Given the description of an element on the screen output the (x, y) to click on. 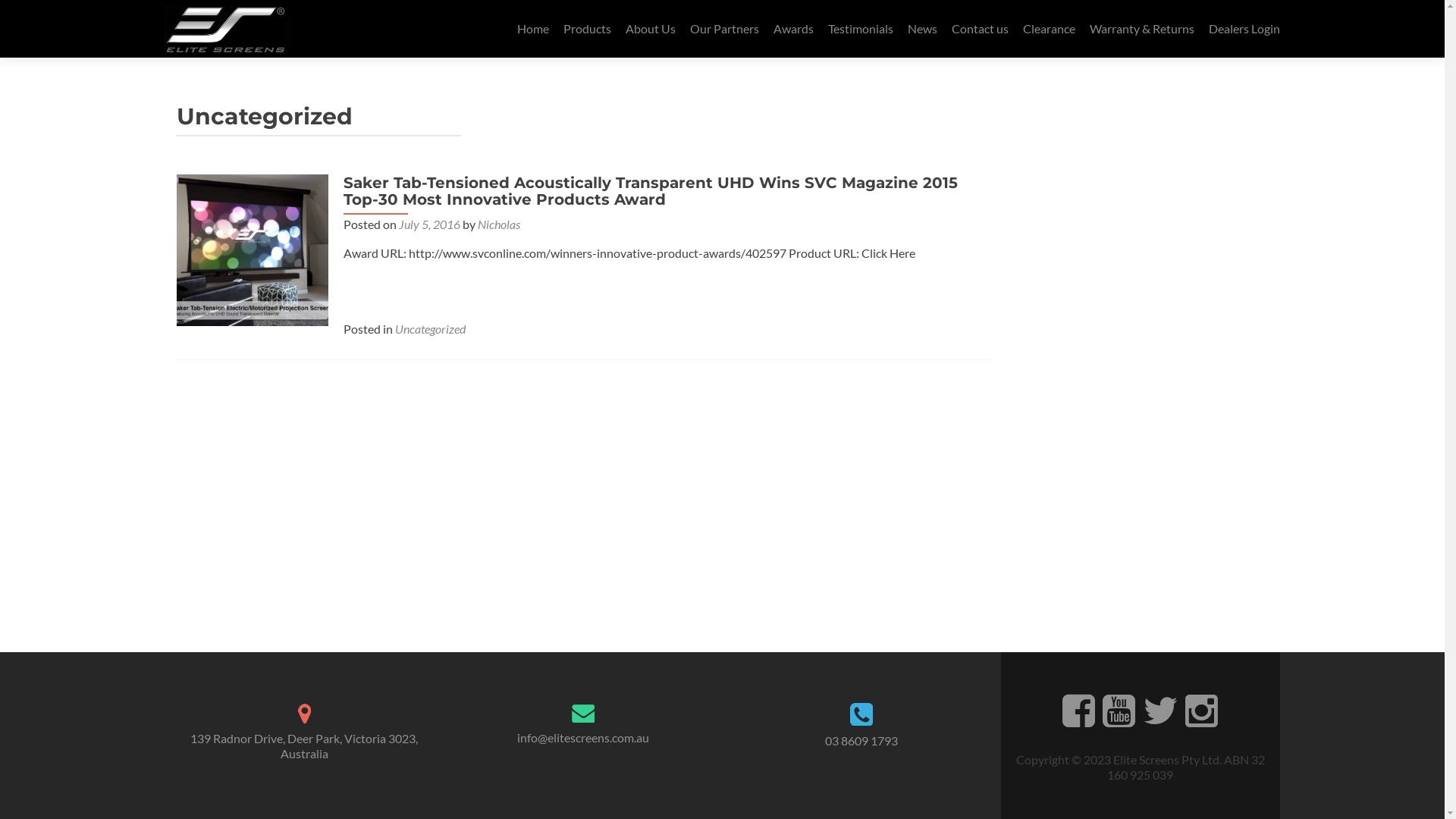
Uncategorized Element type: text (429, 328)
Clearance Element type: text (1048, 28)
Home Element type: text (533, 28)
News Element type: text (921, 28)
Skip to content Element type: text (556, 9)
03 8609 1793 Element type: text (861, 740)
Awards Element type: text (793, 28)
Testimonials Element type: text (860, 28)
Contact us Element type: text (978, 28)
About Us Element type: text (649, 28)
Warranty & Returns Element type: text (1140, 28)
Products Element type: text (586, 28)
July 5, 2016 Element type: text (429, 223)
Dealers Login Element type: text (1244, 28)
Nicholas Element type: text (498, 223)
Our Partners Element type: text (724, 28)
